Given the description of an element on the screen output the (x, y) to click on. 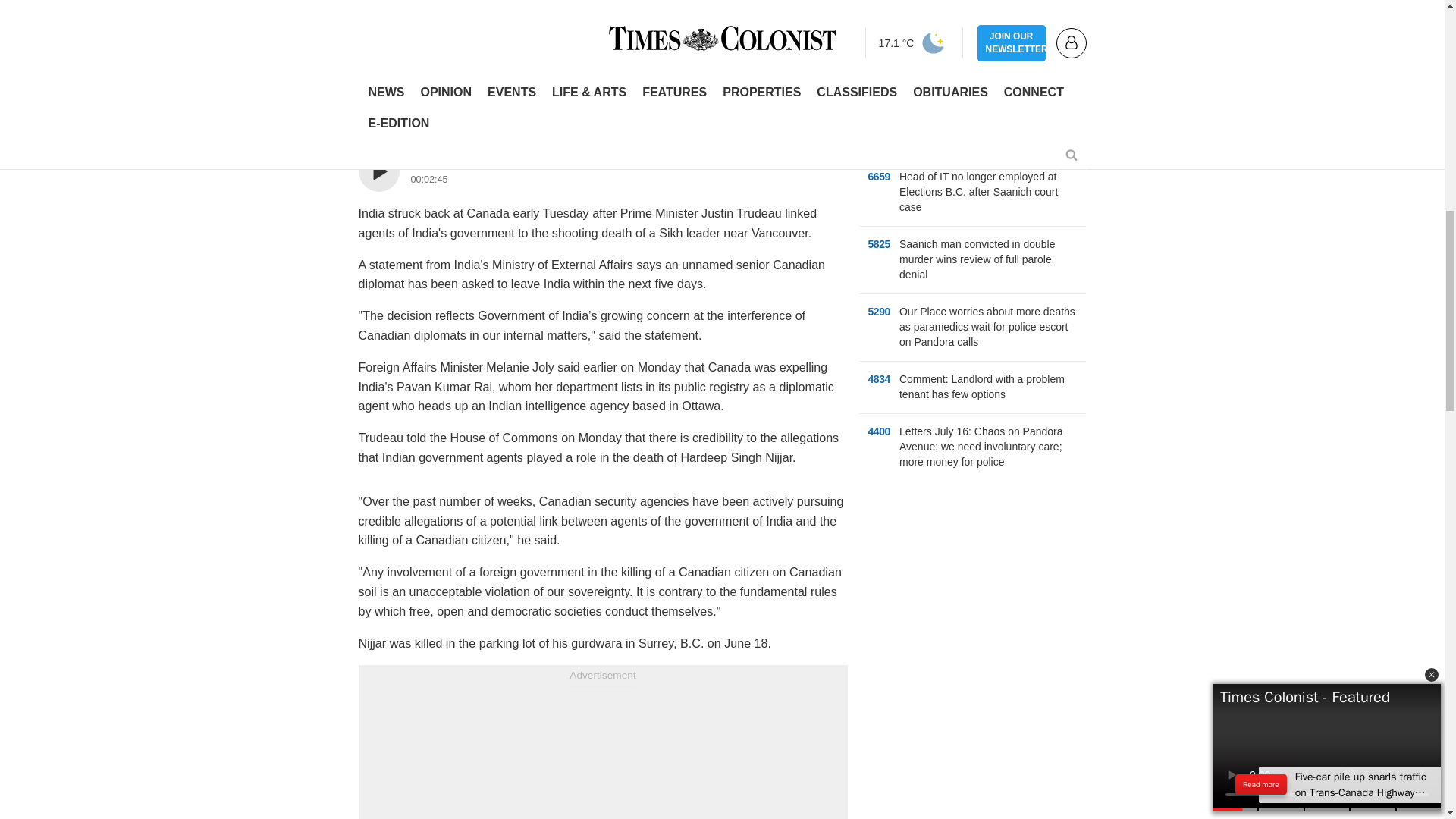
3rd party ad content (972, 590)
